Given the description of an element on the screen output the (x, y) to click on. 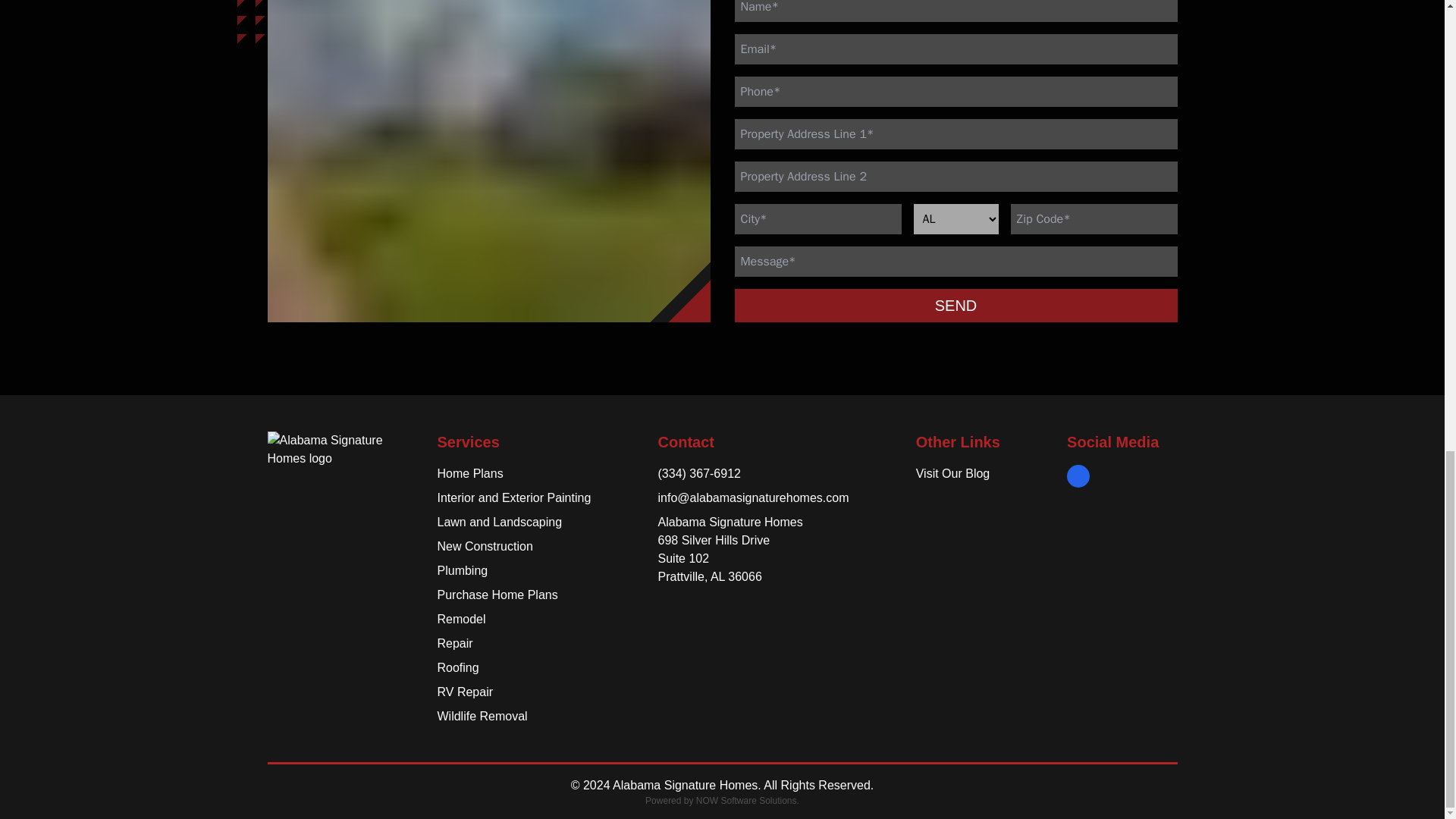
Plumbing (461, 570)
Wildlife Removal (481, 716)
Purchase Home Plans (496, 594)
Lawn and Landscaping (499, 521)
Home Plans (469, 472)
Repair (453, 643)
Interior and Exterior Painting (513, 497)
New Construction (484, 545)
SEND (954, 305)
Visit Our Blog (952, 472)
RV Repair (464, 691)
NOW Software Solutions (745, 800)
Remodel (460, 618)
Roofing (457, 667)
